Given the description of an element on the screen output the (x, y) to click on. 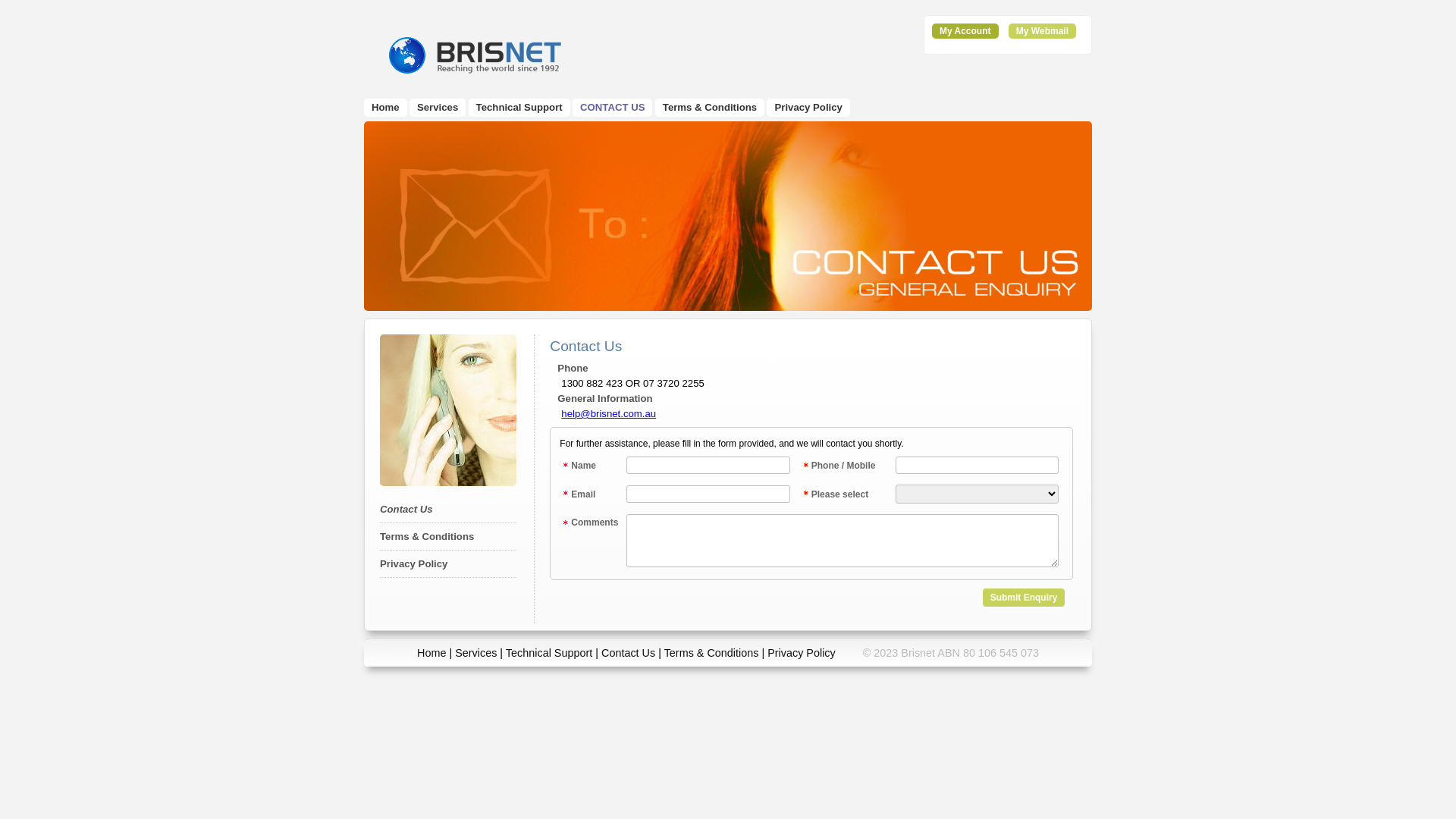
Technical Support Element type: text (548, 652)
Home Element type: text (385, 106)
Contact Us Element type: text (628, 652)
Services Element type: text (437, 106)
Brisnet Element type: hover (474, 54)
Terms & Conditions Element type: text (709, 106)
My Account Element type: text (965, 30)
Privacy Policy Element type: text (807, 106)
My Webmail Element type: text (1042, 30)
help@brisnet.com.au Element type: text (608, 413)
Privacy Policy Element type: text (413, 563)
Terms & Conditions Element type: text (426, 536)
Home Element type: text (431, 652)
Services Element type: text (475, 652)
Terms & Conditions | Element type: text (716, 652)
Technical Support Element type: text (519, 106)
Privacy Policy Element type: text (801, 652)
Contact Us Element type: text (406, 508)
CONTACT US Element type: text (612, 106)
